Given the description of an element on the screen output the (x, y) to click on. 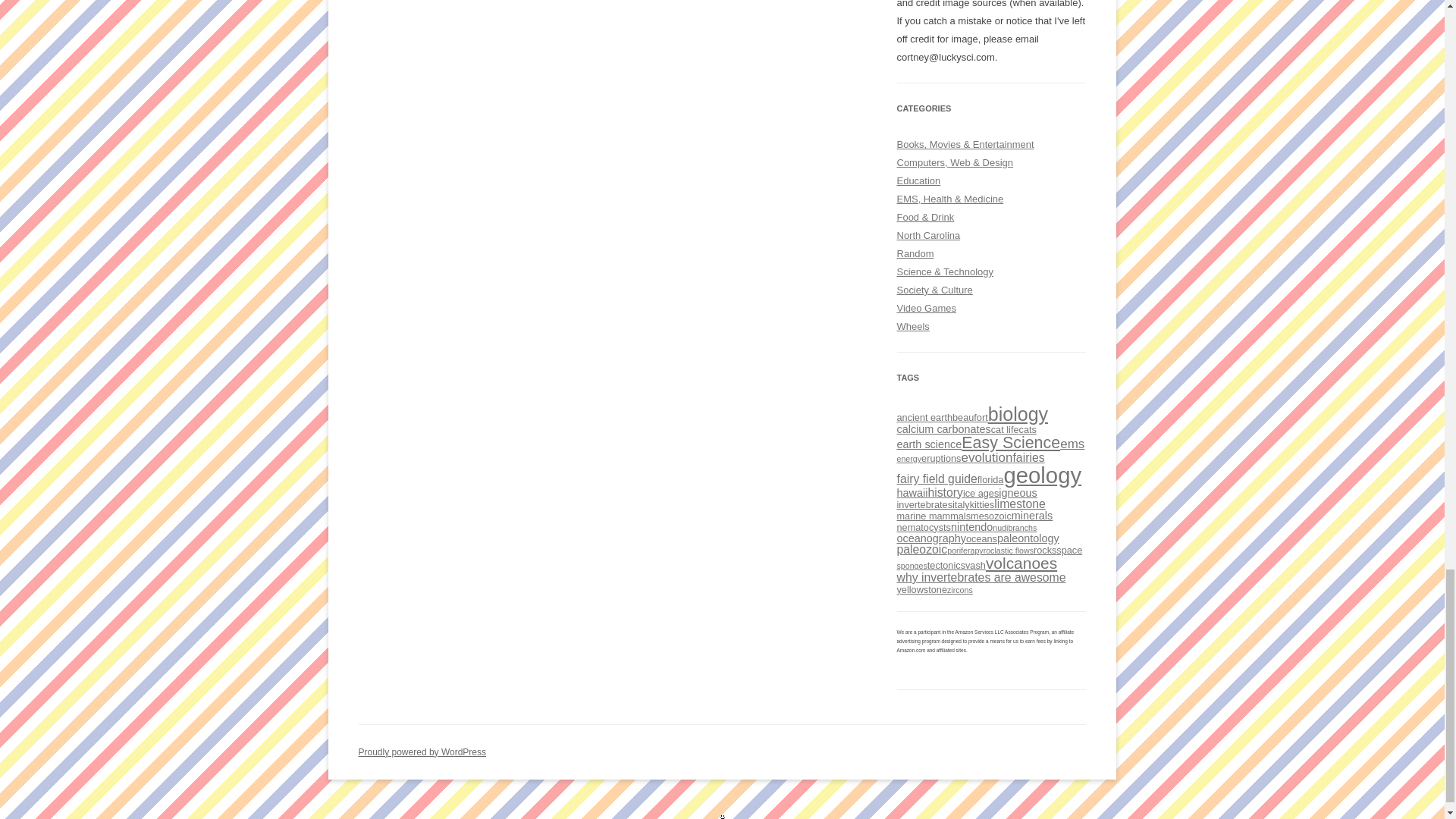
Semantic Personal Publishing Platform (422, 751)
